Given the description of an element on the screen output the (x, y) to click on. 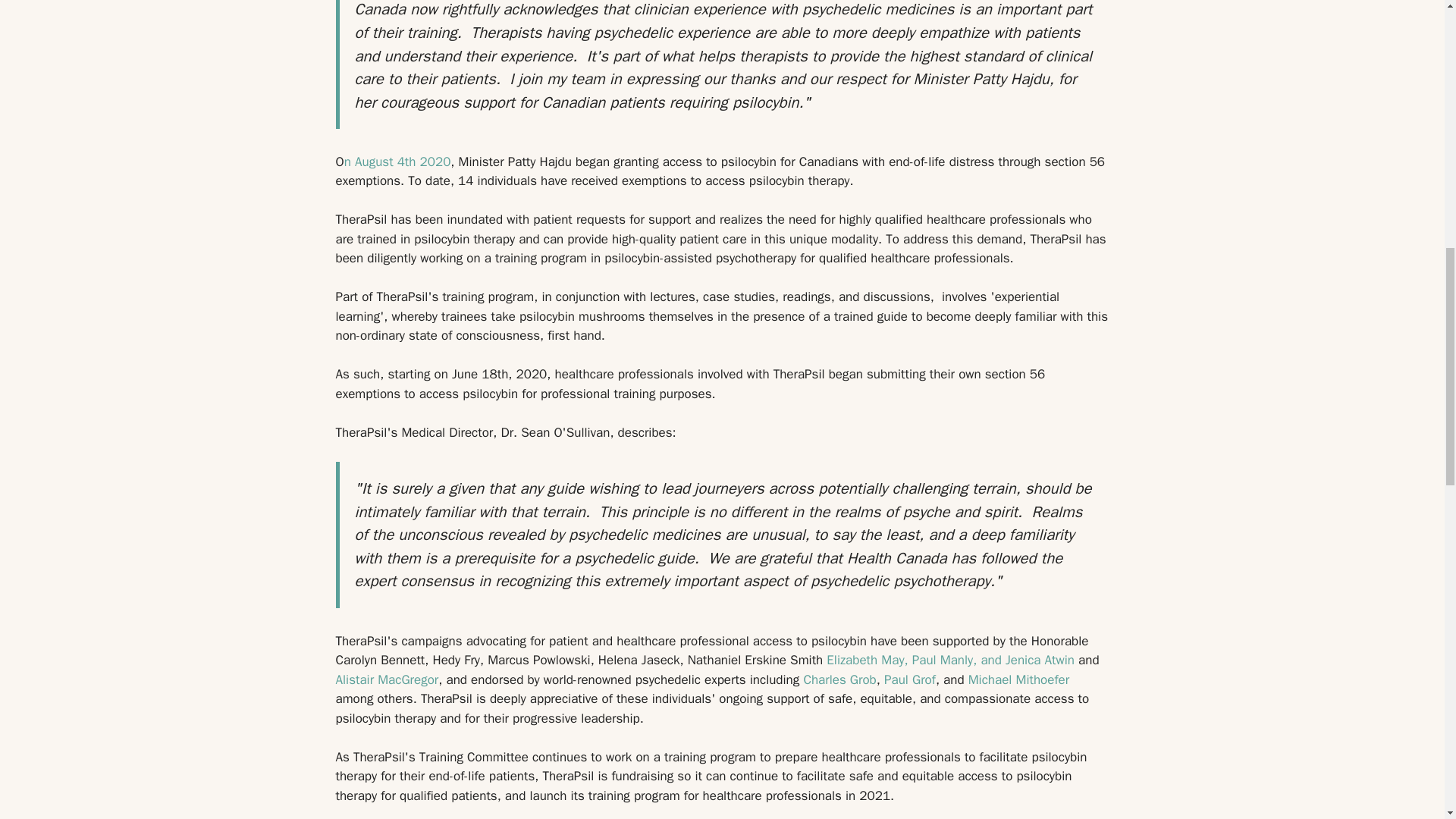
Elizabeth May, Paul Manly, and Jenica Atwin (950, 659)
Alistair MacGregor (386, 679)
n August 4th 2020 (397, 161)
Paul Grof (909, 679)
Scroll back to top (1406, 720)
Michael Mithoefer (1018, 679)
Charles Grob (839, 679)
